Given the description of an element on the screen output the (x, y) to click on. 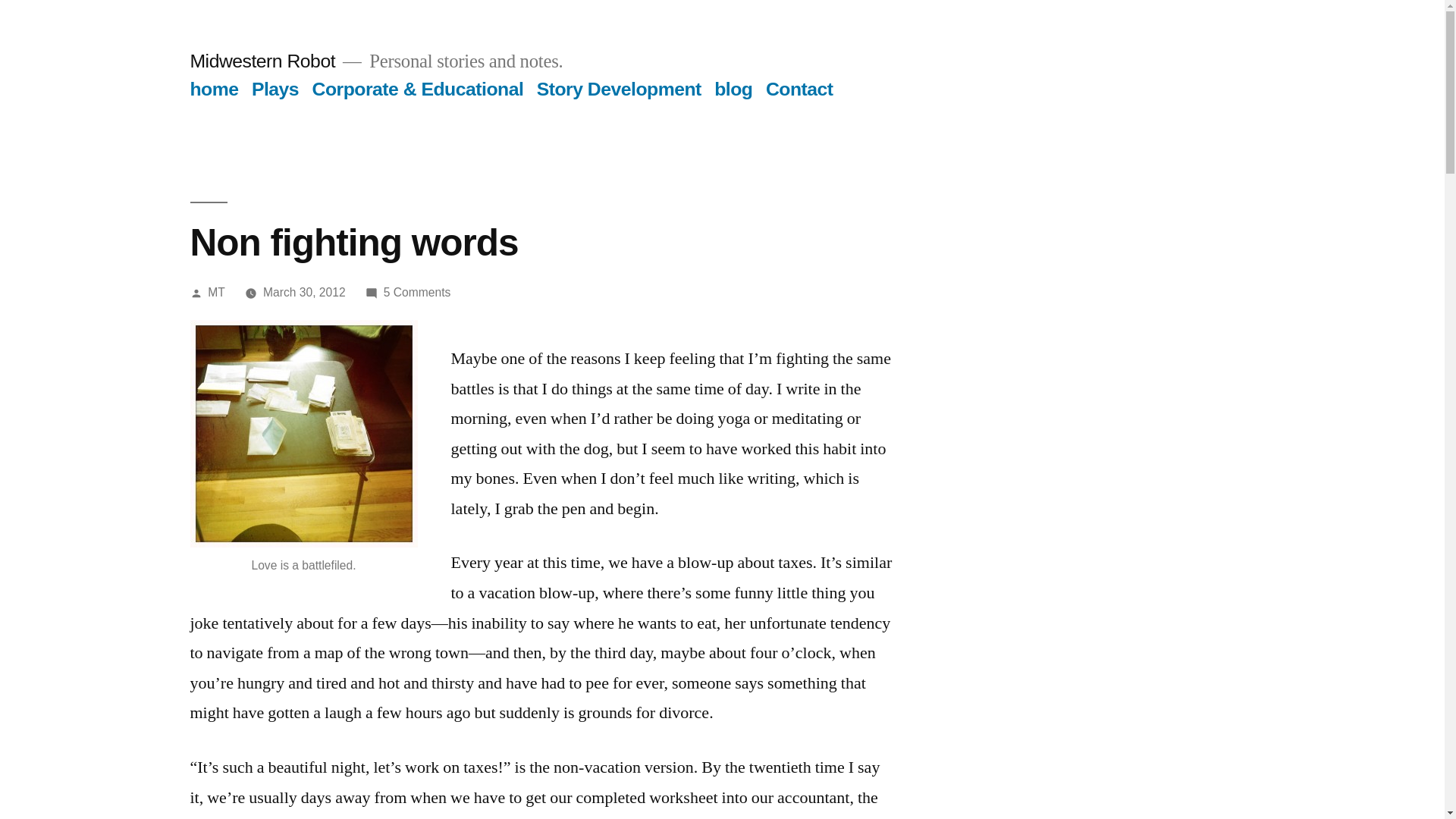
MT (216, 291)
Midwestern Robot (261, 60)
home (213, 88)
Plays (274, 88)
Story Development (619, 88)
David Turrentine (310, 817)
March 30, 2012 (304, 291)
tax table (417, 291)
blog (302, 433)
Contact (733, 88)
